Given the description of an element on the screen output the (x, y) to click on. 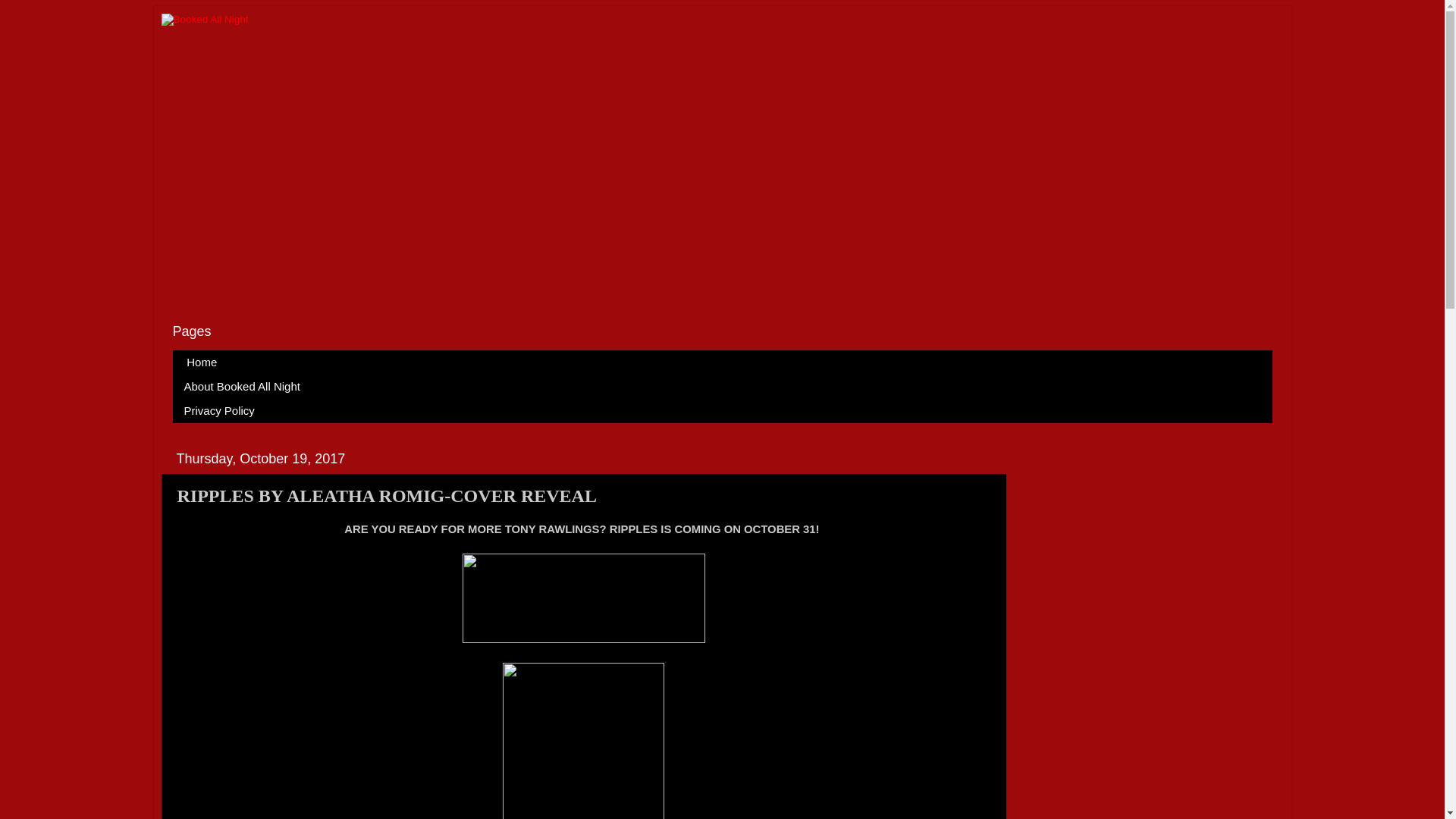
Home (201, 362)
About Booked All Night (243, 386)
Privacy Policy (219, 410)
